Given the description of an element on the screen output the (x, y) to click on. 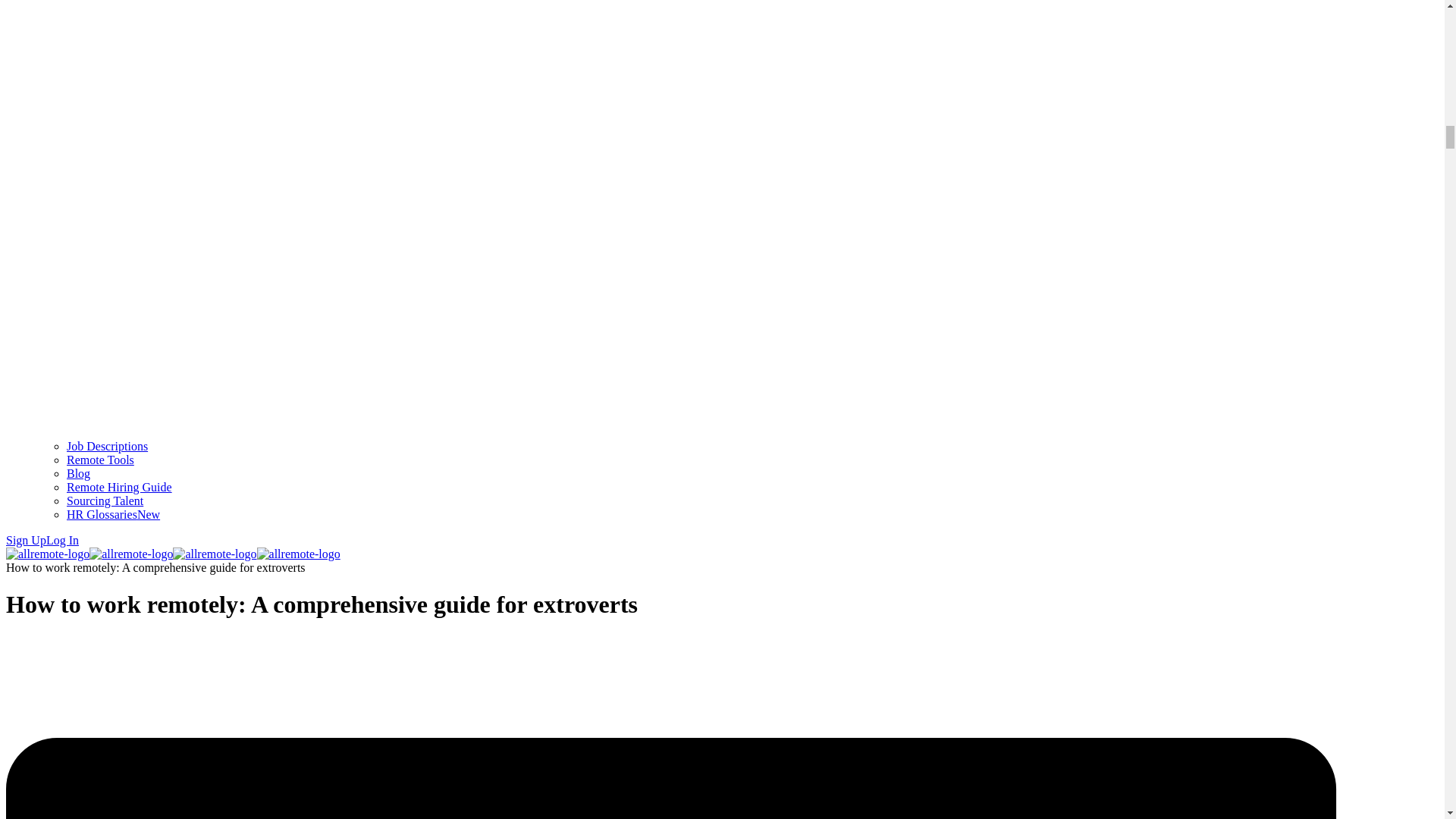
Log In (62, 540)
Remote Hiring Guide (118, 486)
Remote Tools (99, 459)
Blog (78, 472)
Job Descriptions (107, 445)
Sourcing Talent (104, 500)
Sign Up (25, 540)
